Given the description of an element on the screen output the (x, y) to click on. 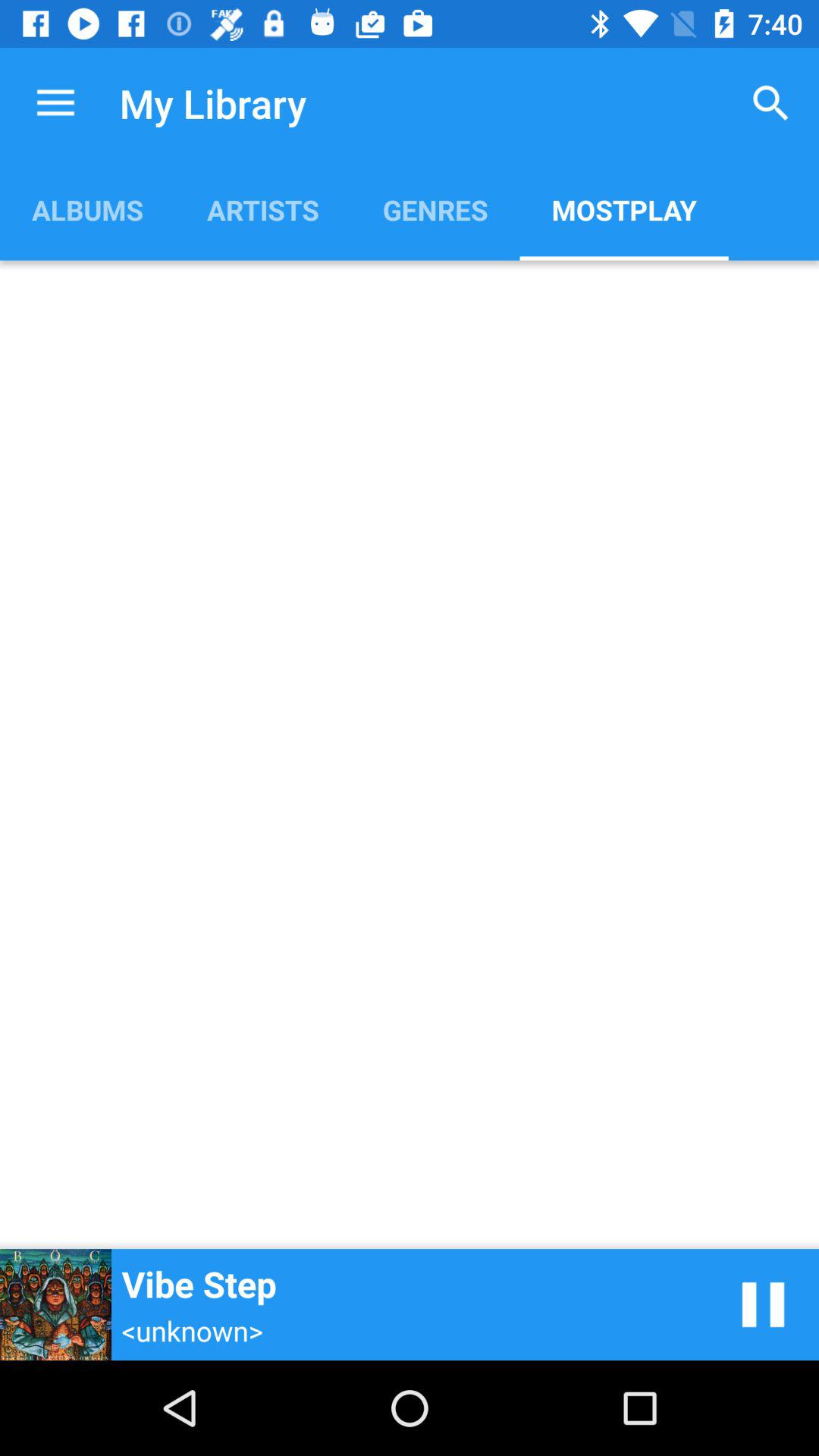
turn on the app to the right of genres icon (623, 209)
